Given the description of an element on the screen output the (x, y) to click on. 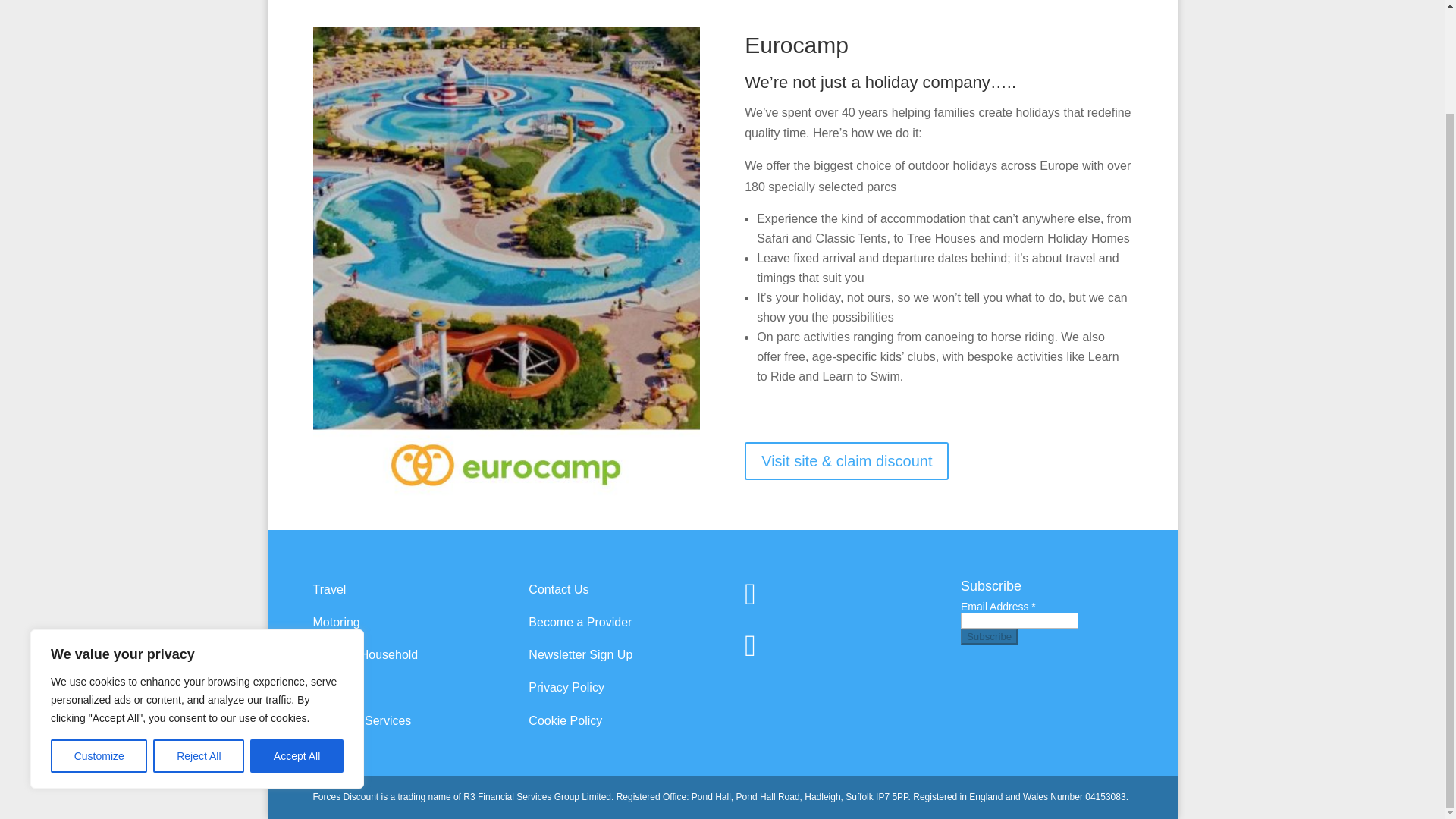
Subscribe (988, 636)
Reject All (198, 635)
Accept All (296, 635)
Travel (329, 589)
Customize (98, 635)
Motoring (336, 621)
